Given the description of an element on the screen output the (x, y) to click on. 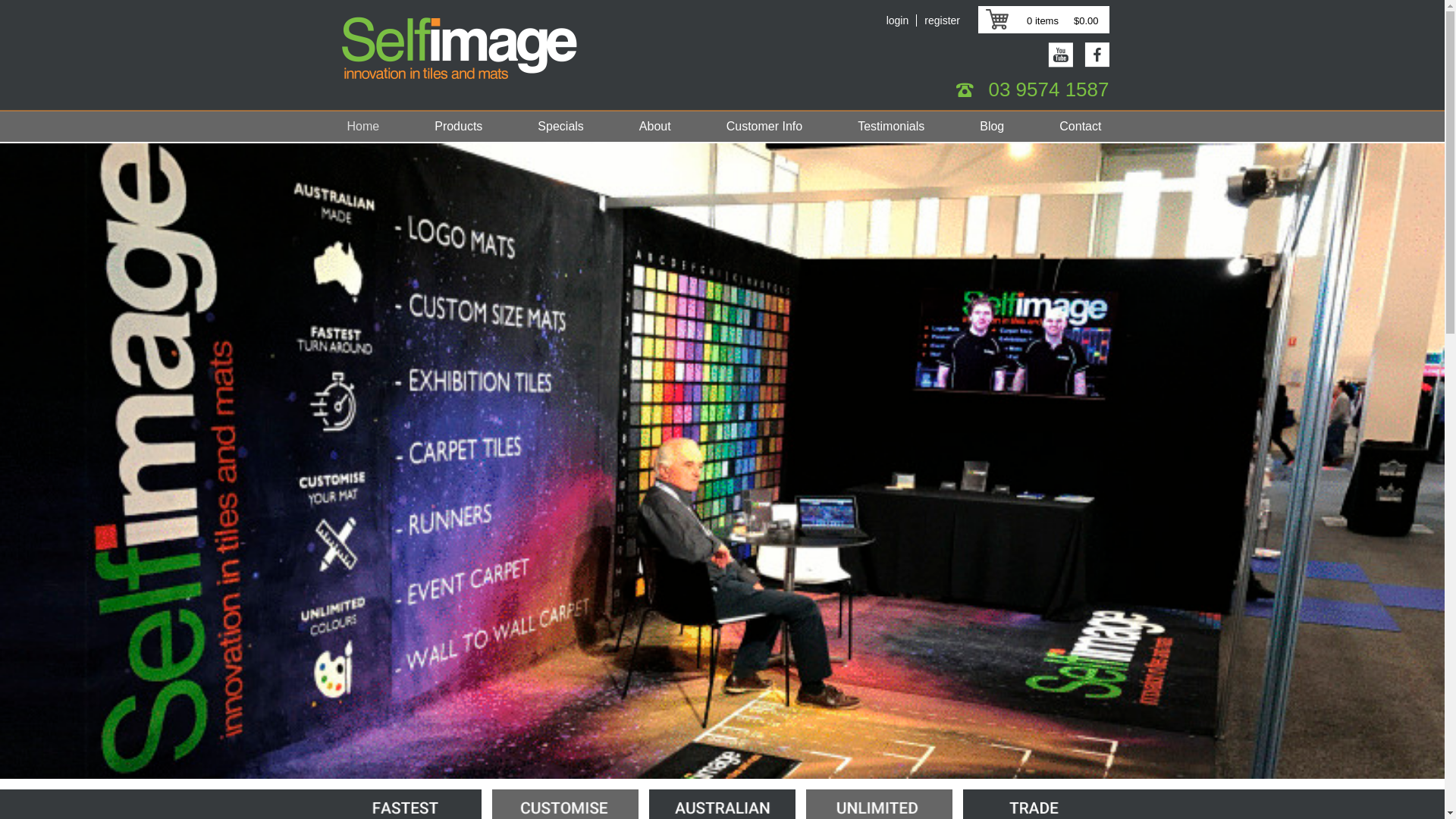
login (901, 20)
register (938, 20)
03 9574 1587 (1048, 88)
0 items (1034, 20)
